Given the description of an element on the screen output the (x, y) to click on. 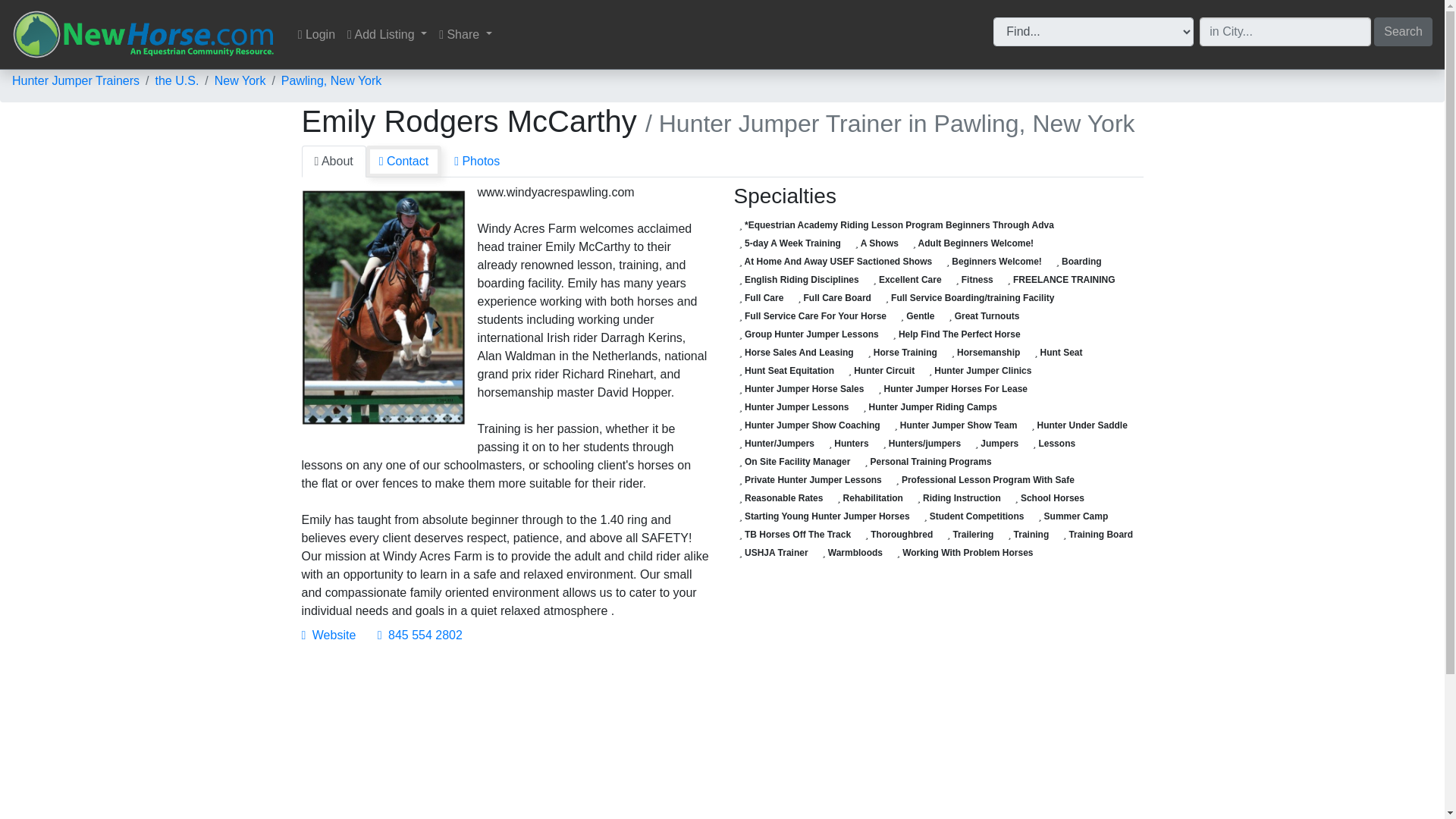
Add Listing (386, 34)
Website (328, 634)
the U.S. (177, 80)
Search (1403, 30)
Pawling, New York (331, 80)
845 554 2802 (420, 634)
Contact (403, 161)
Share (464, 34)
Hunter Jumper Trainers (75, 80)
Login (316, 34)
